Given the description of an element on the screen output the (x, y) to click on. 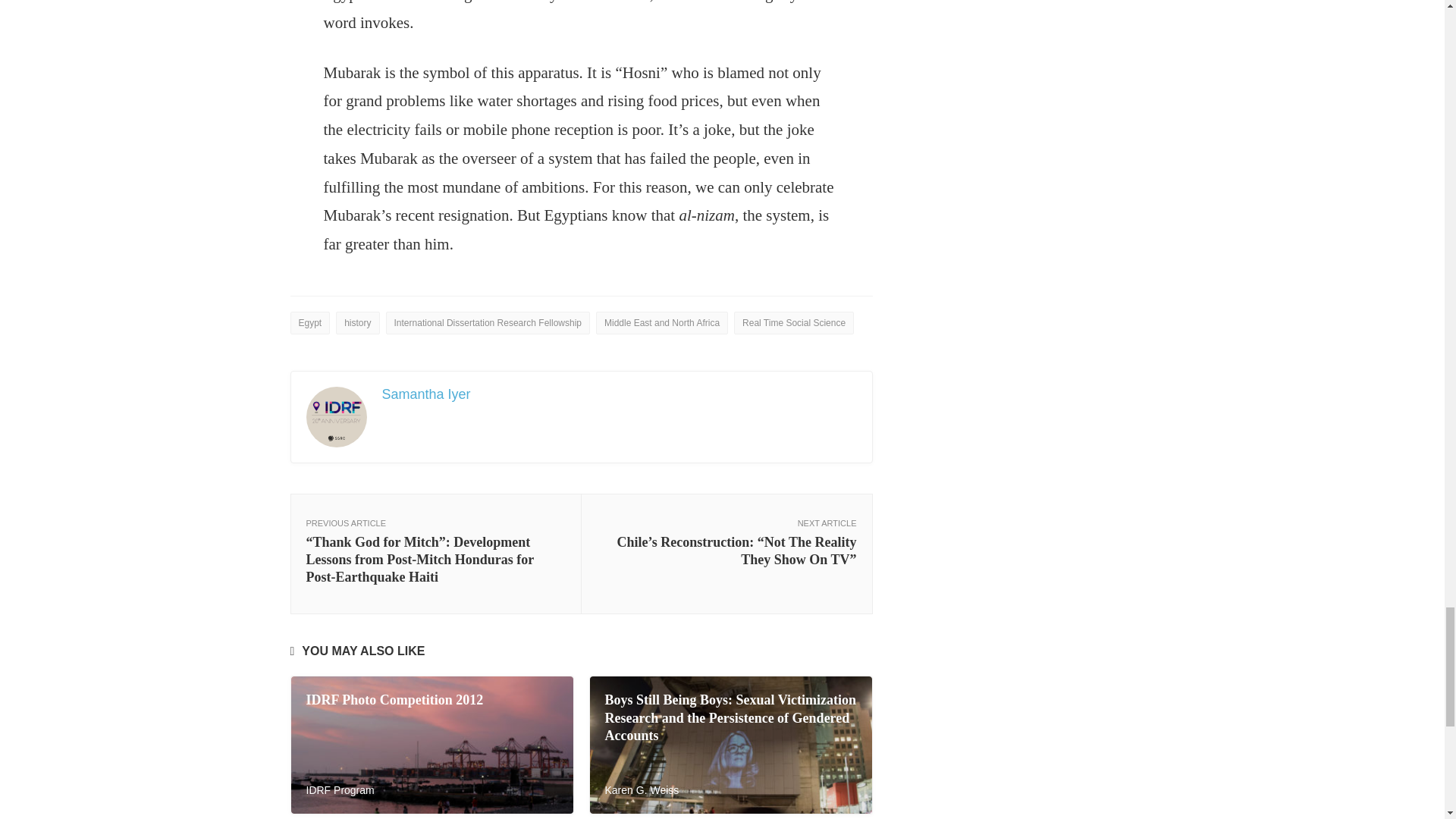
International Dissertation Research Fellowship (487, 323)
Egypt (309, 323)
history (357, 323)
